Given the description of an element on the screen output the (x, y) to click on. 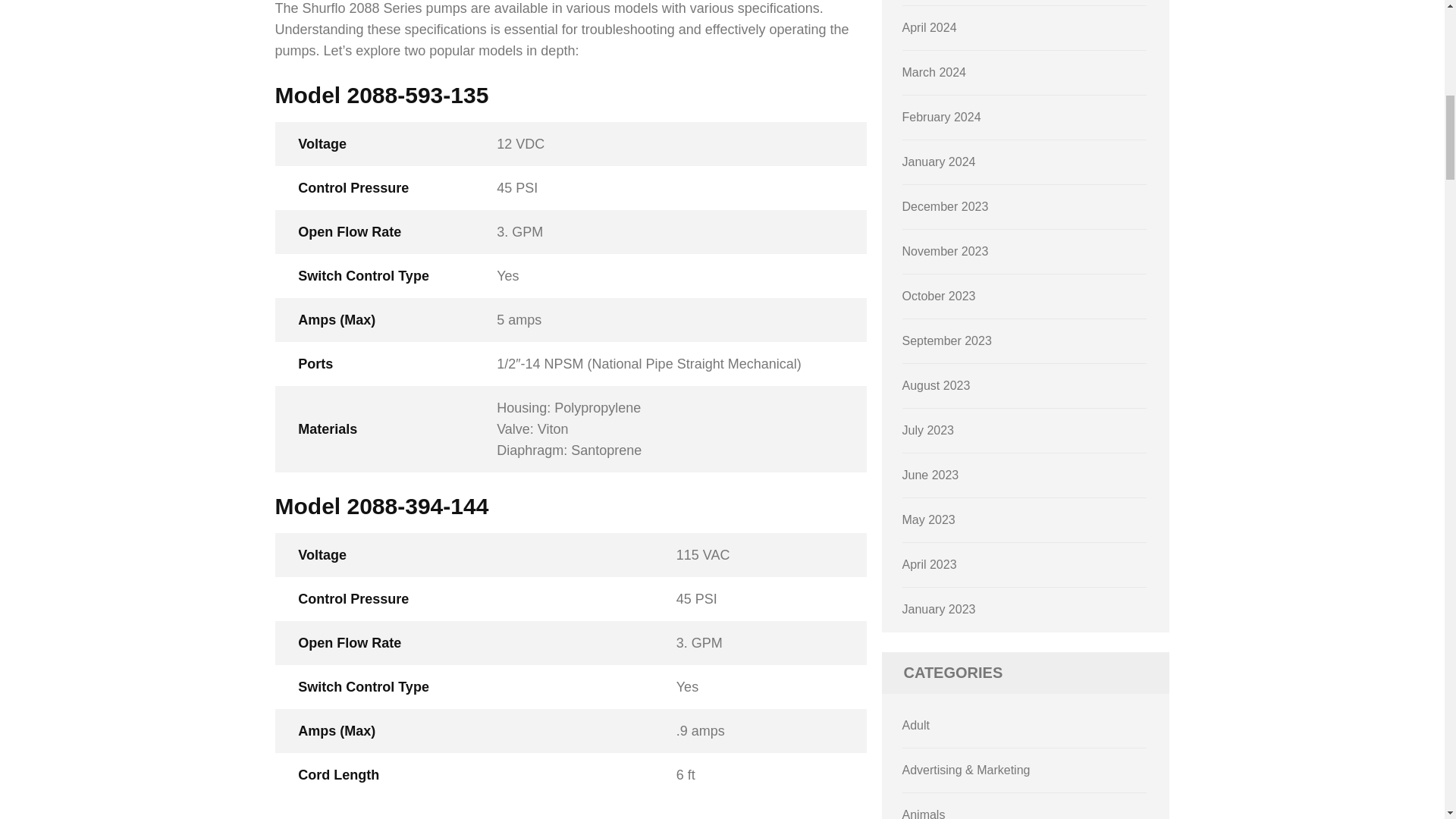
October 2023 (938, 295)
February 2024 (941, 116)
August 2023 (936, 385)
May 2023 (928, 519)
January 2024 (938, 161)
July 2023 (928, 430)
Adult (916, 725)
November 2023 (945, 250)
December 2023 (945, 205)
January 2023 (938, 608)
April 2023 (929, 563)
April 2024 (929, 27)
June 2023 (930, 474)
March 2024 (934, 72)
September 2023 (946, 340)
